Given the description of an element on the screen output the (x, y) to click on. 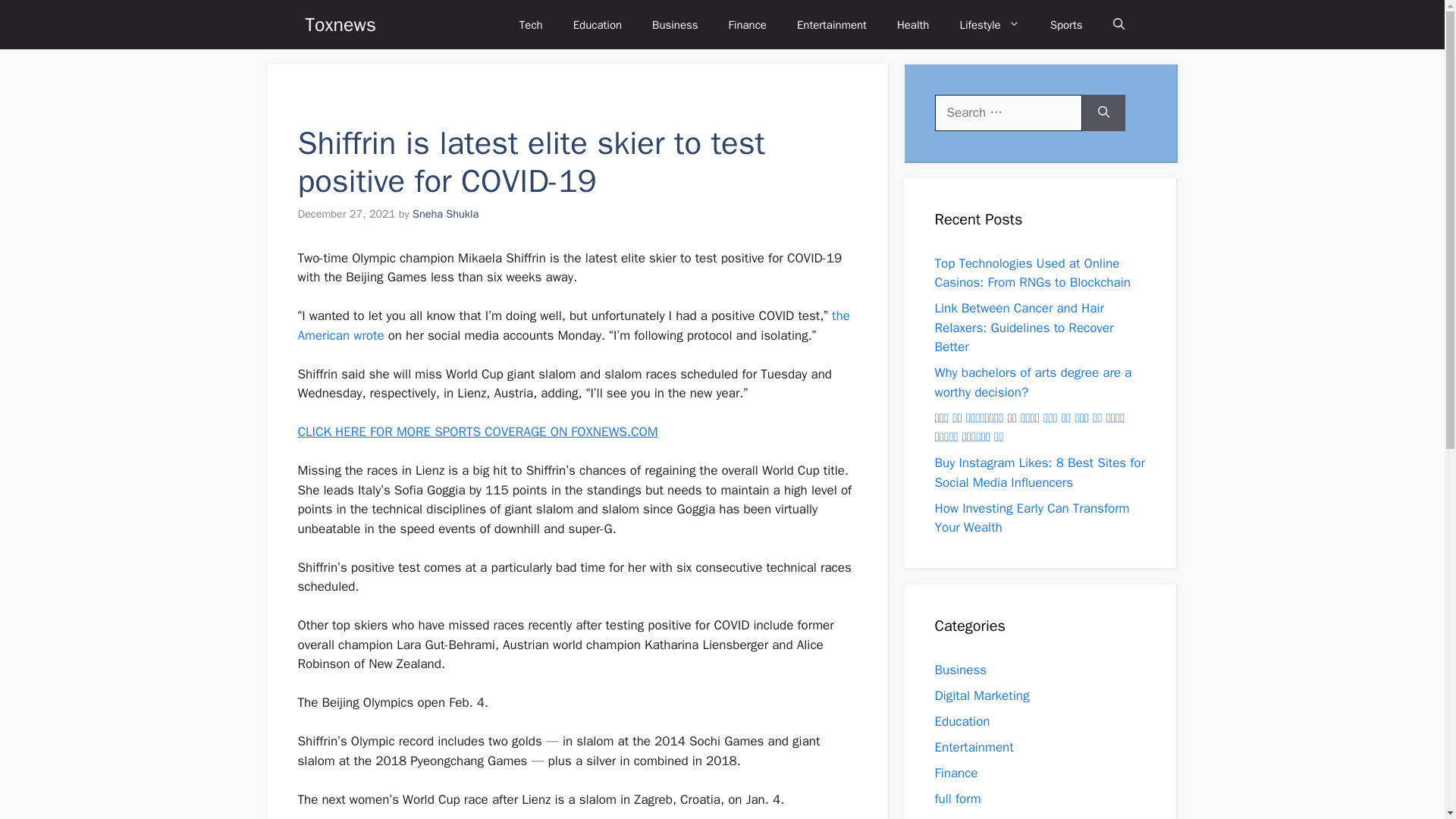
Why bachelors of arts degree are a worthy decision? (1032, 382)
How Investing Early Can Transform Your Wealth (1031, 518)
Education (962, 720)
View all posts by Sneha Shukla (445, 213)
Education (597, 23)
Entertainment (973, 746)
Digital Marketing (981, 694)
Sports (1066, 23)
Health (913, 23)
